Given the description of an element on the screen output the (x, y) to click on. 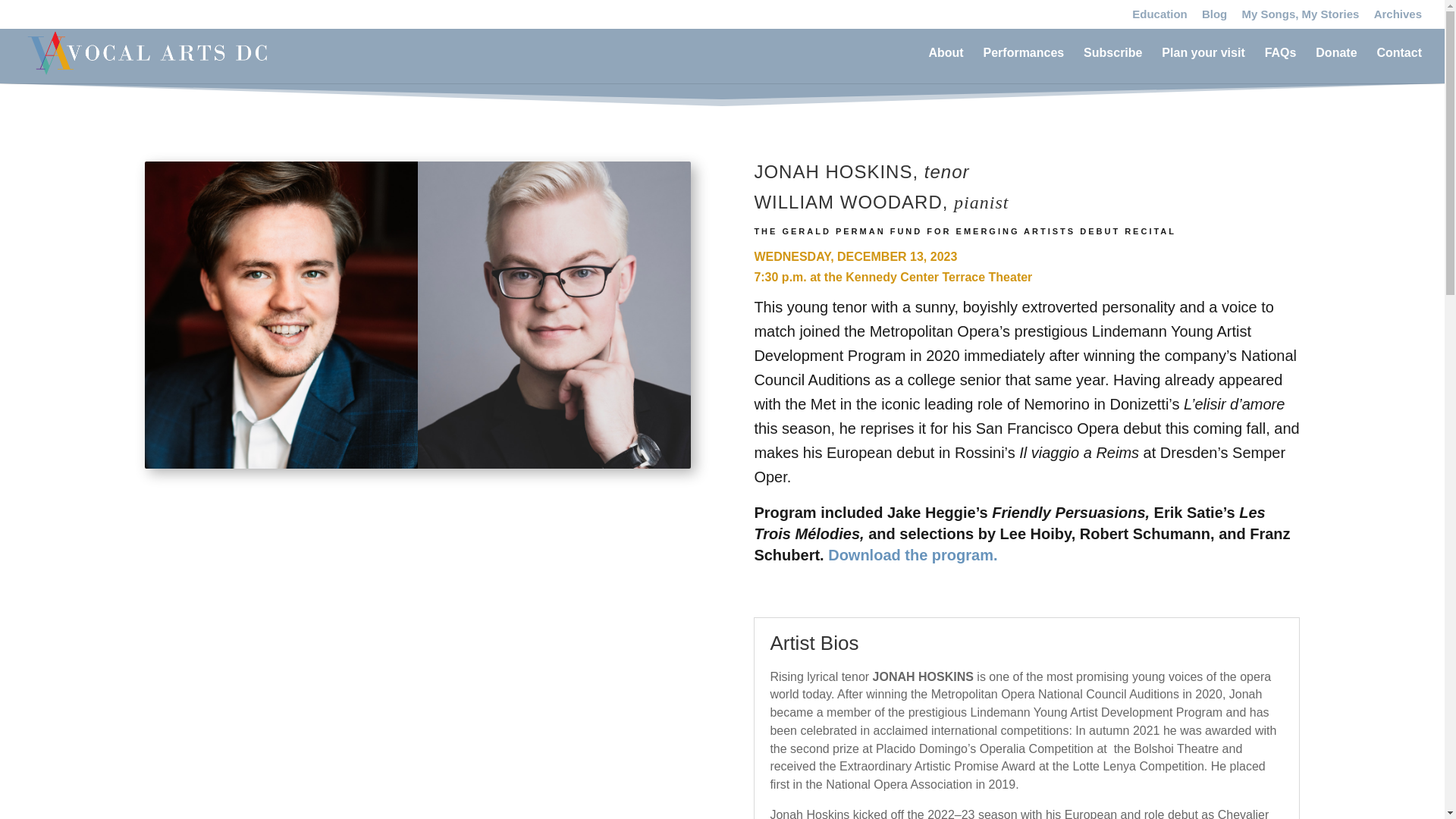
Education (1160, 17)
Subscribe (1112, 65)
Performances (1023, 65)
Blog (1214, 17)
Donate (1336, 65)
Contact (1398, 65)
Download the program.  (914, 555)
About (945, 65)
FAQs (1281, 65)
My Songs, My Stories (1299, 17)
Plan your visit (1202, 65)
Archives (1398, 17)
